Given the description of an element on the screen output the (x, y) to click on. 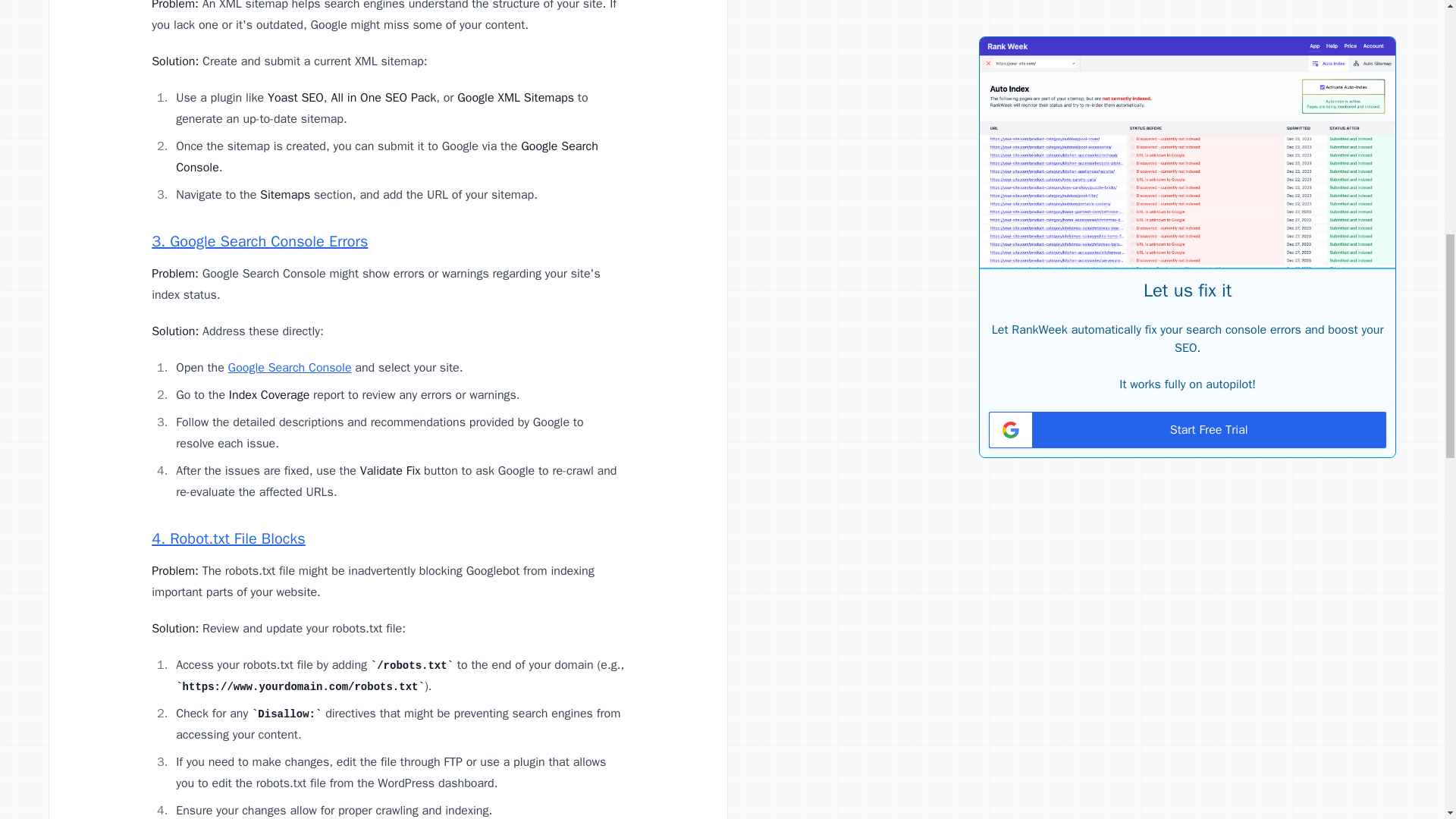
4. Robot.txt File Blocks (228, 538)
3. Google Search Console Errors (259, 240)
Google Search Console (290, 367)
